Given the description of an element on the screen output the (x, y) to click on. 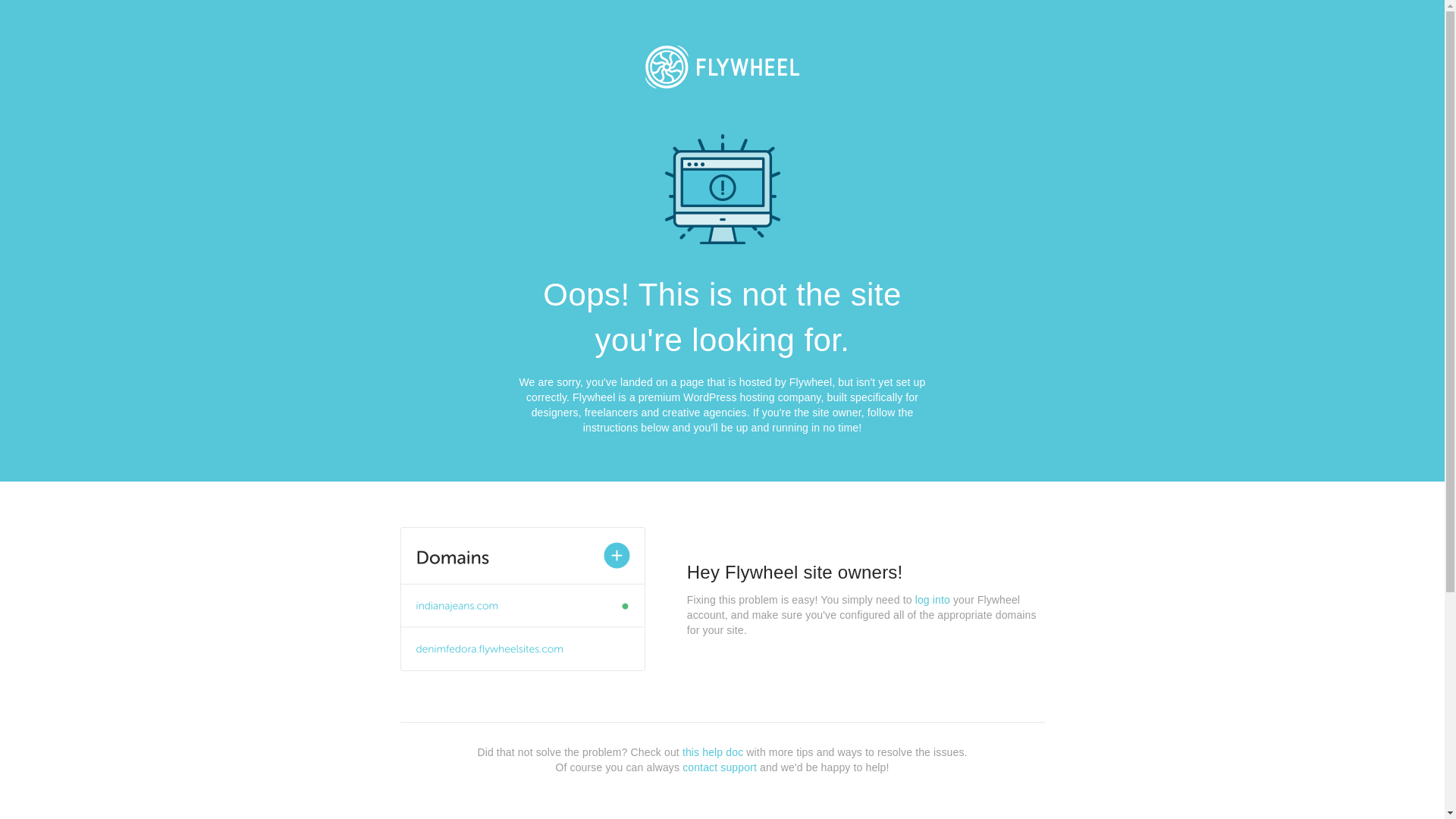
log into Element type: text (932, 599)
contact support Element type: text (719, 767)
this help doc Element type: text (712, 752)
